Given the description of an element on the screen output the (x, y) to click on. 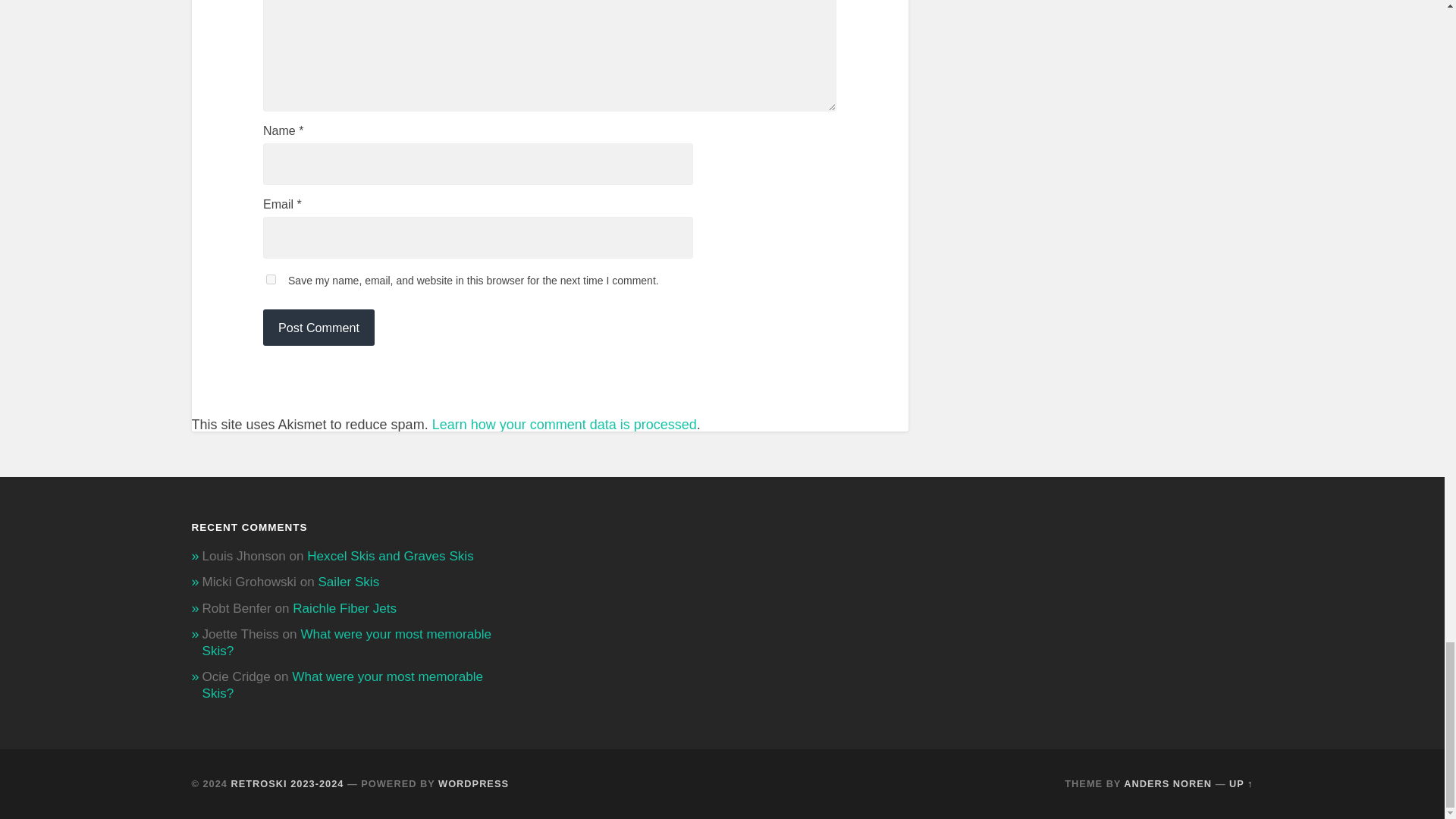
Raichle Fiber Jets (344, 608)
yes (271, 279)
Sailer Skis (347, 581)
Post Comment (318, 327)
Hexcel Skis and Graves Skis (390, 555)
Learn how your comment data is processed (564, 424)
Post Comment (318, 327)
